Given the description of an element on the screen output the (x, y) to click on. 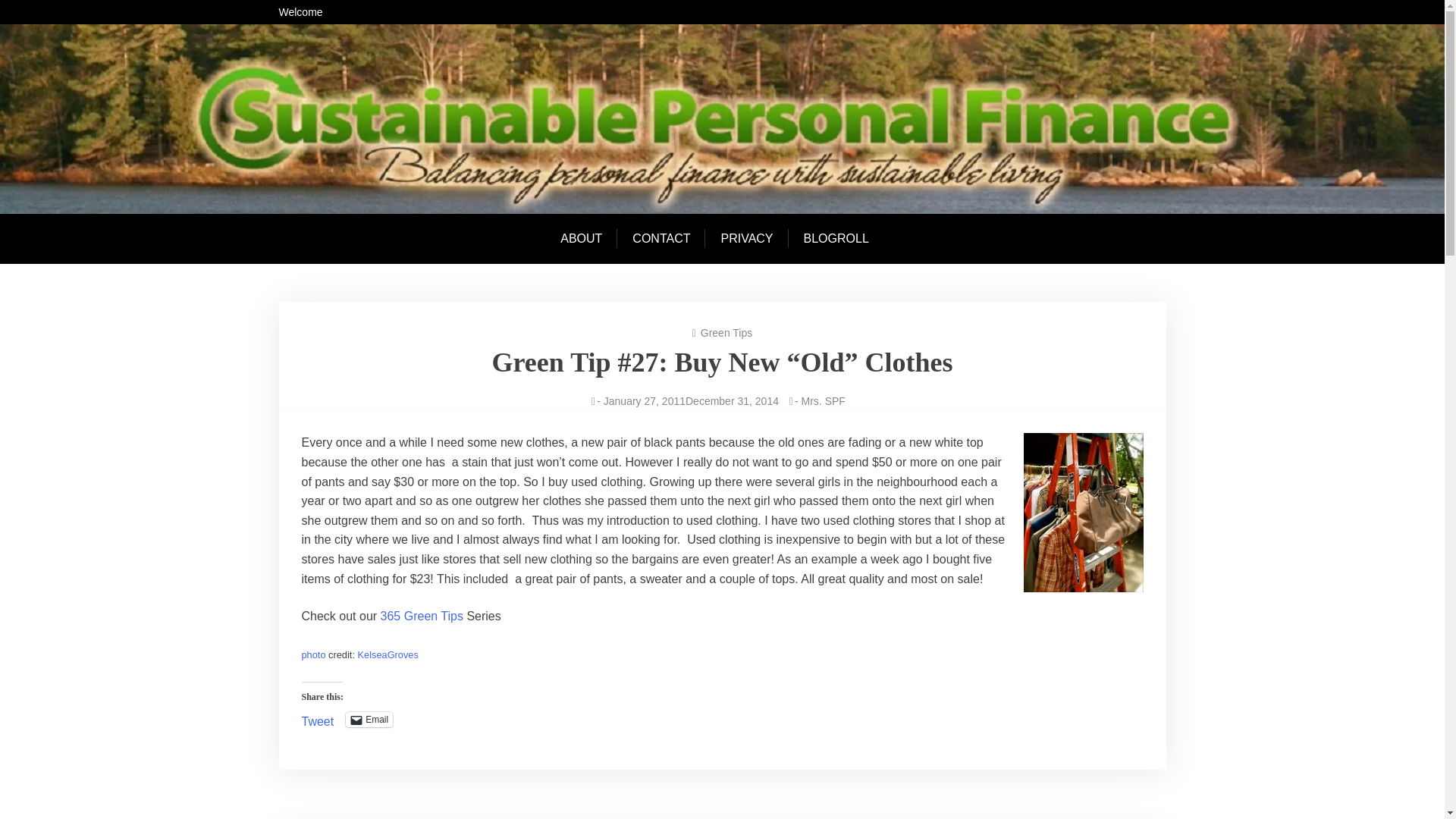
Green Tips (726, 332)
Mrs. SPF (823, 400)
Email (369, 719)
ABOUT (588, 238)
SUSTAINABLE PERSONAL FINANCE (396, 107)
KelseaGroves (388, 654)
CONTACT (660, 238)
January 27, 2011December 31, 2014 (691, 400)
Click to email a link to a friend (369, 719)
PRIVACY (745, 238)
photo (313, 654)
BLOGROLL (836, 238)
365 Green Tips (421, 615)
KelseaGroves (388, 654)
Tweet (317, 718)
